Given the description of an element on the screen output the (x, y) to click on. 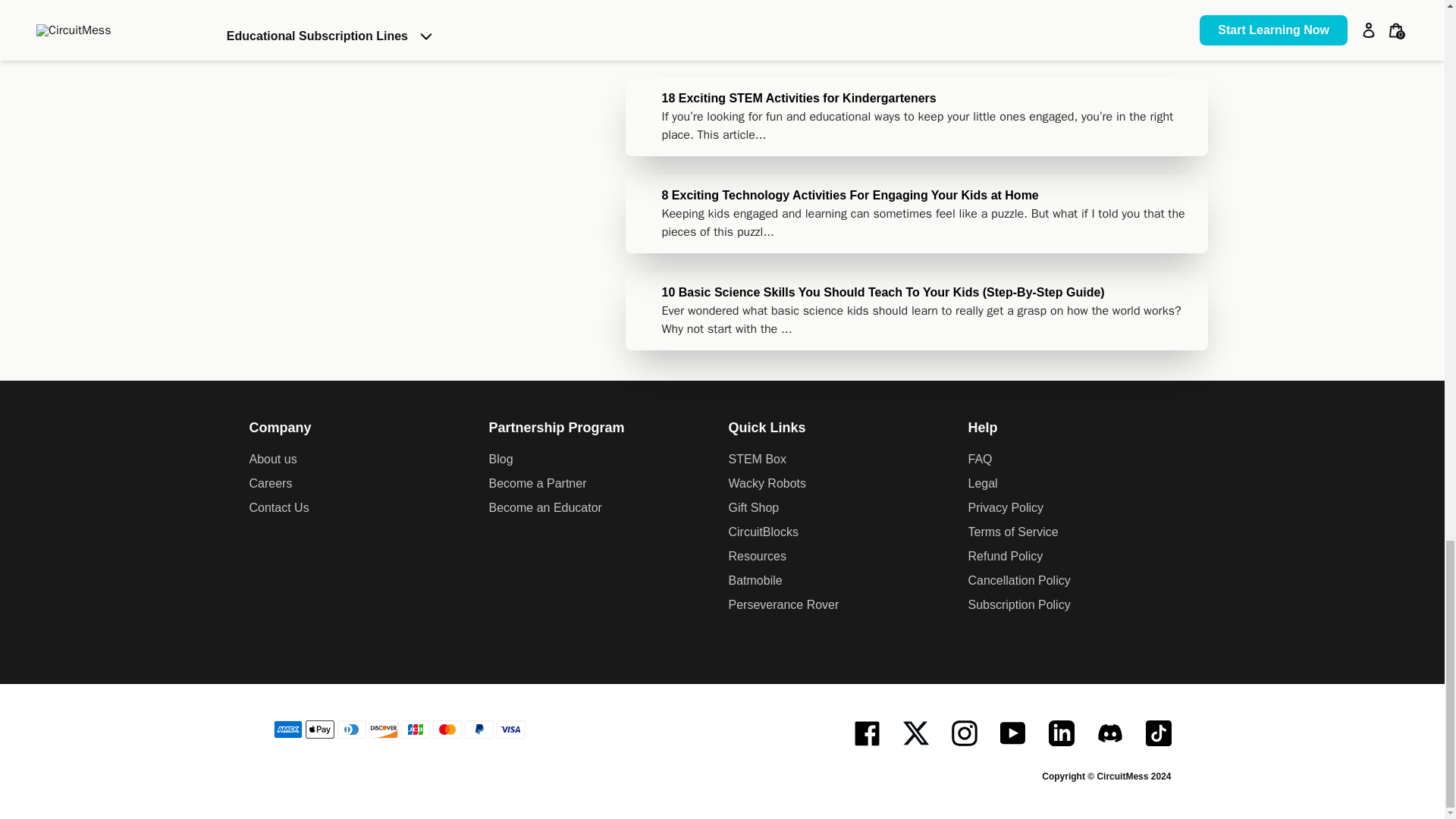
STEM Box (841, 459)
Become a Partner (601, 484)
Wacky Robots (841, 484)
Become an Educator (601, 507)
Batmobile (841, 580)
Resources (841, 556)
CircuitBlocks (841, 532)
Careers (362, 484)
Gift Shop (841, 507)
Contact Us (362, 507)
Blog (601, 459)
About us (362, 459)
